Given the description of an element on the screen output the (x, y) to click on. 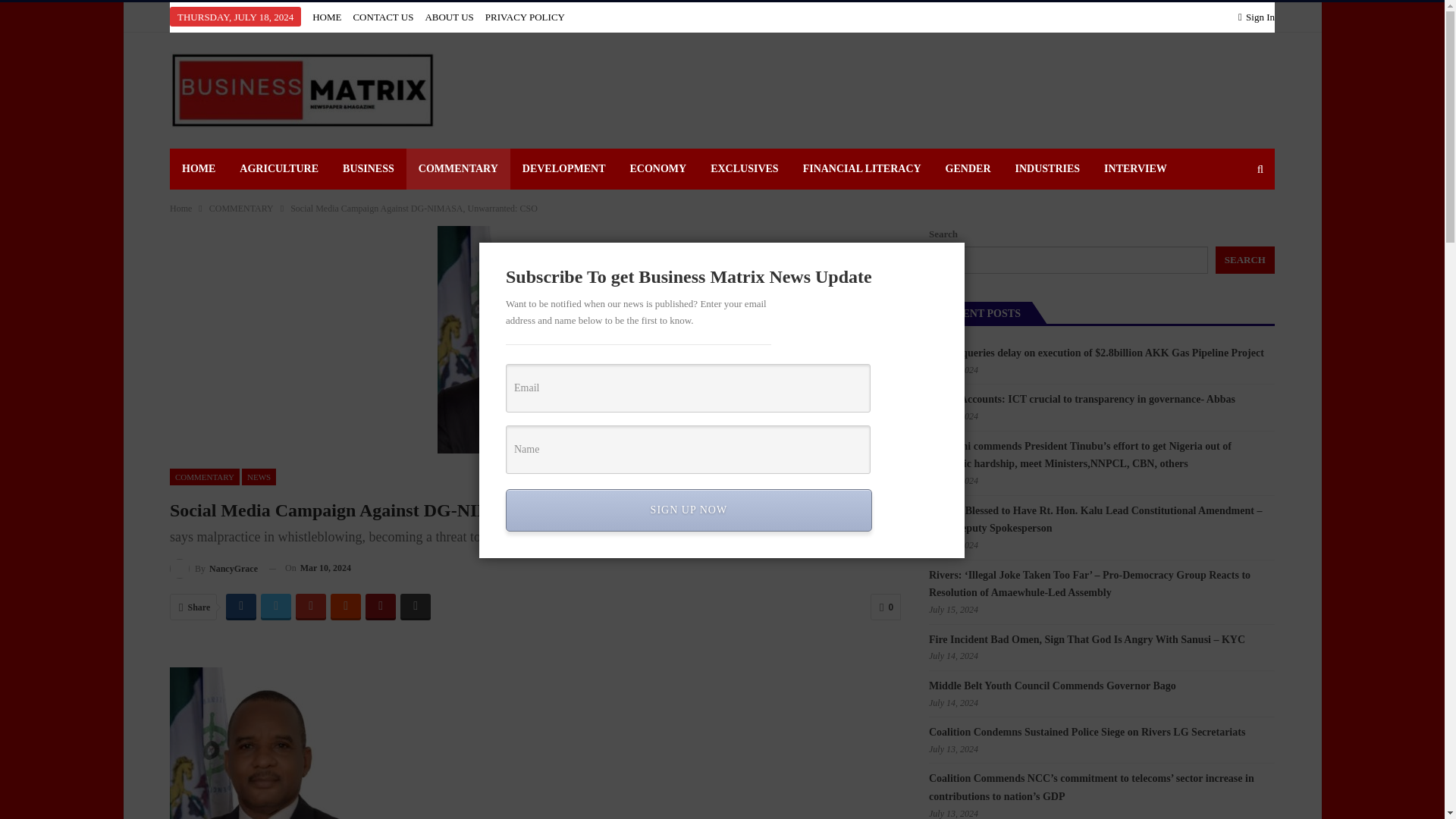
Sign In (1257, 17)
0 (885, 606)
FINANCIAL LITERACY (861, 168)
CONTACT US (382, 16)
ABOUT US (449, 16)
EXCLUSIVES (744, 168)
Browse Author Articles (213, 567)
COMMENTARY (205, 477)
BUSINESS (368, 168)
COMMENTARY (458, 168)
HOME (198, 168)
HOME (326, 16)
INTERVIEW (1135, 168)
GENDER (968, 168)
By NancyGrace (213, 567)
